Given the description of an element on the screen output the (x, y) to click on. 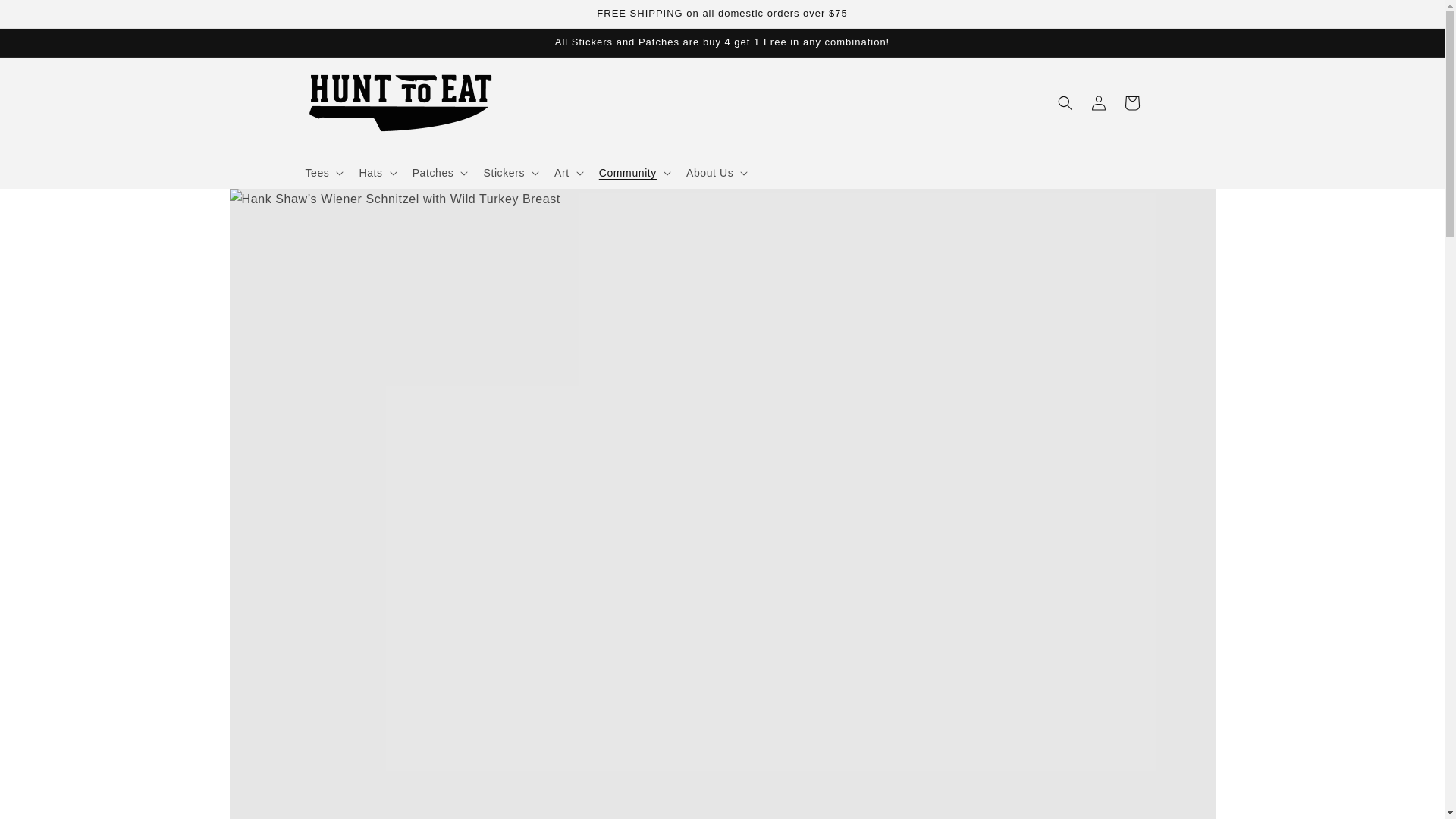
Skip to content (45, 17)
